Given the description of an element on the screen output the (x, y) to click on. 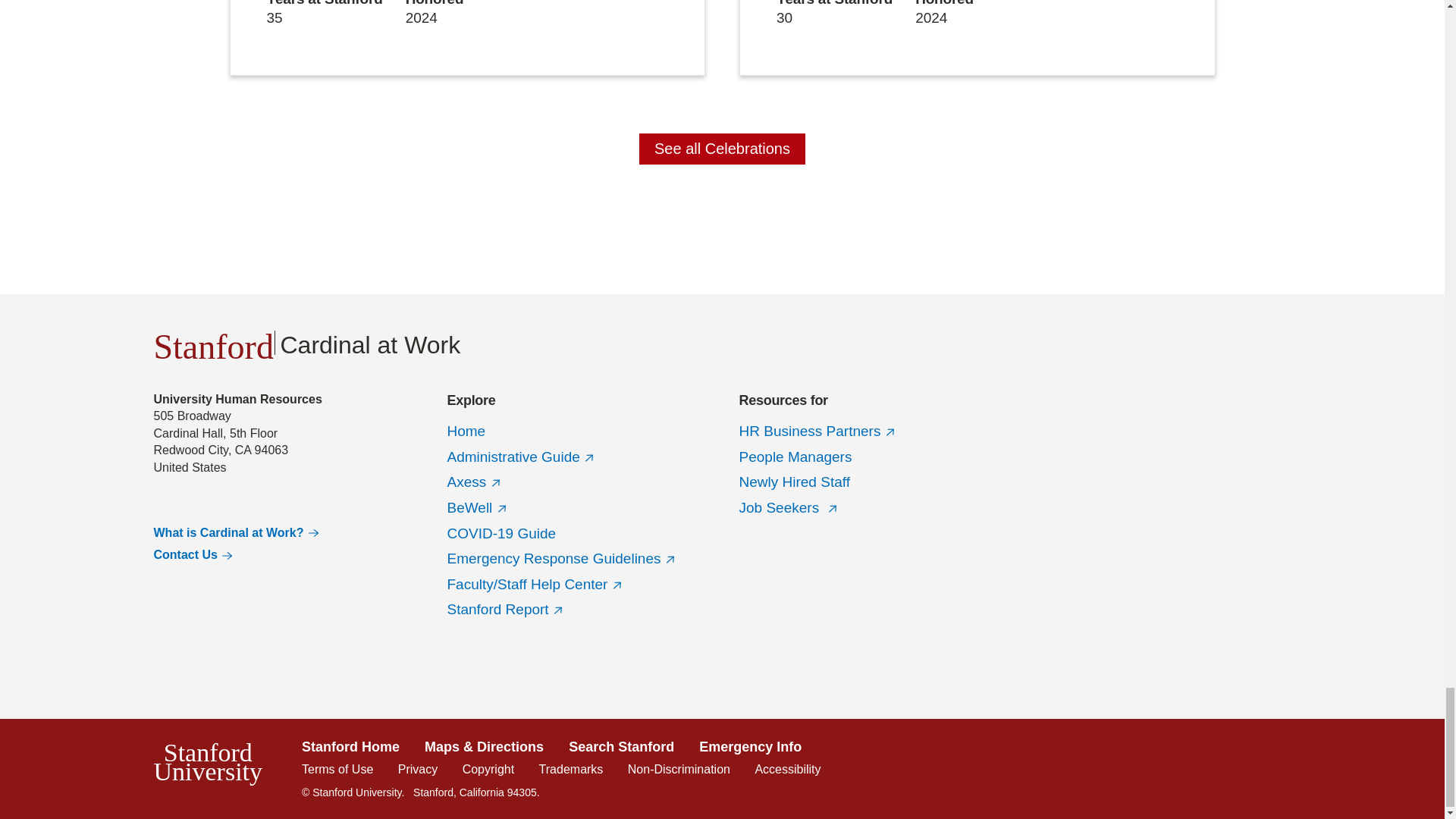
Report web accessibility issues (787, 768)
Non-discrimination policy (678, 768)
Ownership and use of Stanford trademarks and images (571, 768)
Privacy and cookie policy (417, 768)
Terms of use for sites (336, 768)
Report alleged copyright infringement (488, 768)
